Given the description of an element on the screen output the (x, y) to click on. 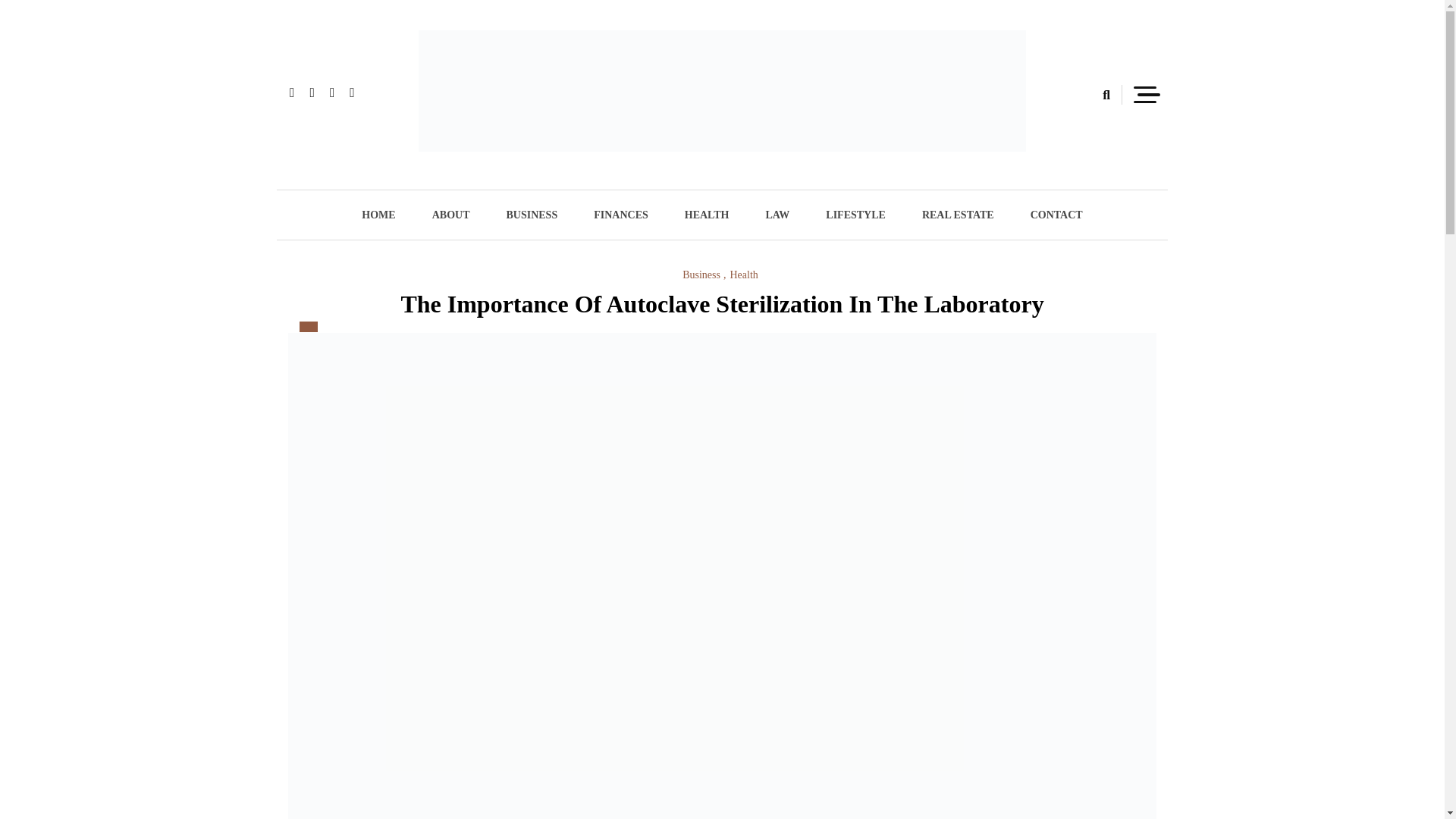
Business (703, 274)
HEALTH (707, 214)
Health (743, 274)
ABOUT (450, 214)
BUSINESS (531, 214)
LAW (777, 214)
HOME (378, 214)
REAL ESTATE (957, 214)
einsiders (474, 177)
FINANCES (620, 214)
LIFESTYLE (856, 214)
CONTACT (1055, 214)
